Given the description of an element on the screen output the (x, y) to click on. 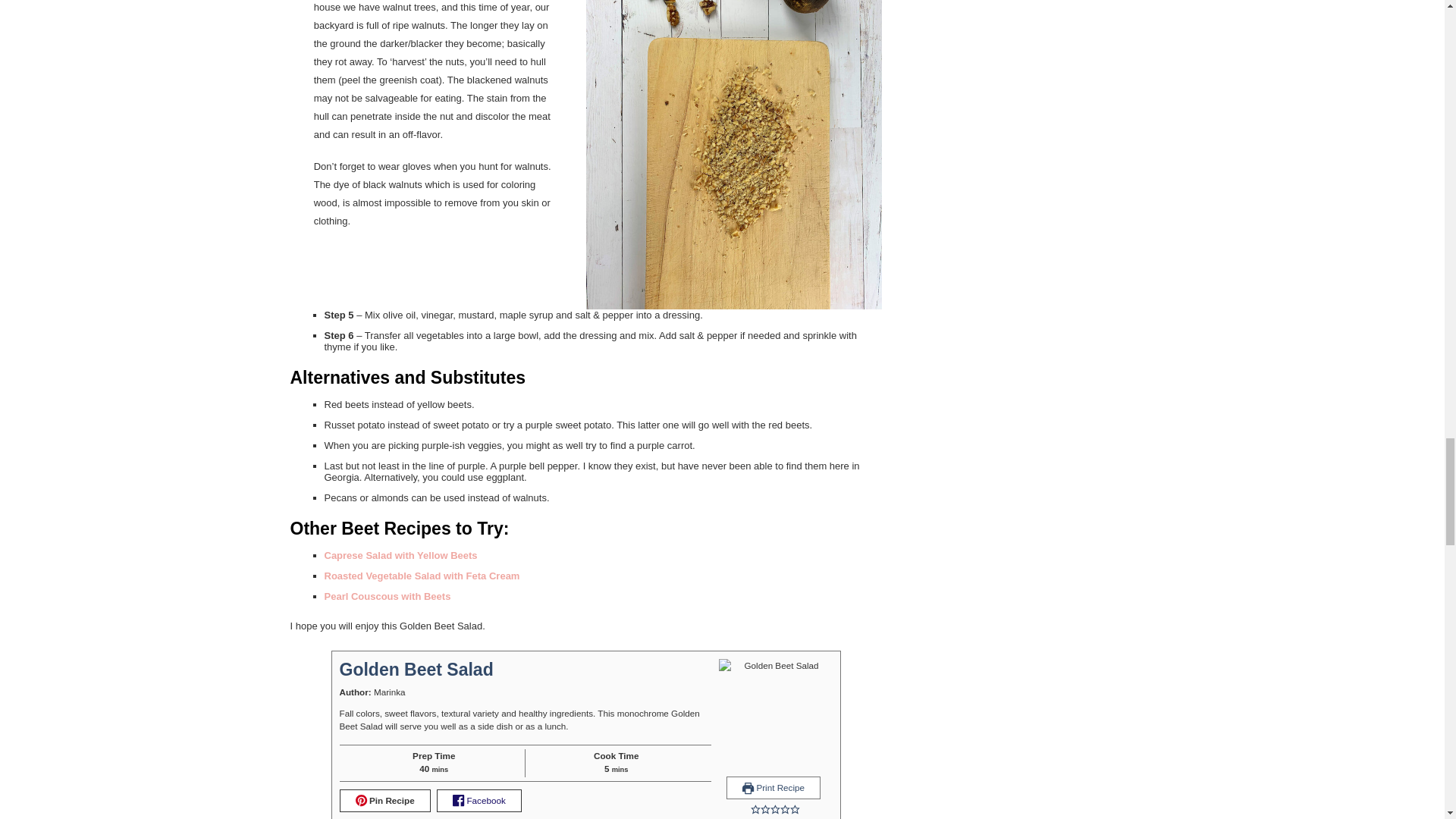
Print Recipe (773, 787)
Pearl Couscous with Beets (387, 595)
Roasted Vegetable Salad with Feta Cream (421, 575)
Caprese Salad with Yellow Beets (400, 555)
